Given the description of an element on the screen output the (x, y) to click on. 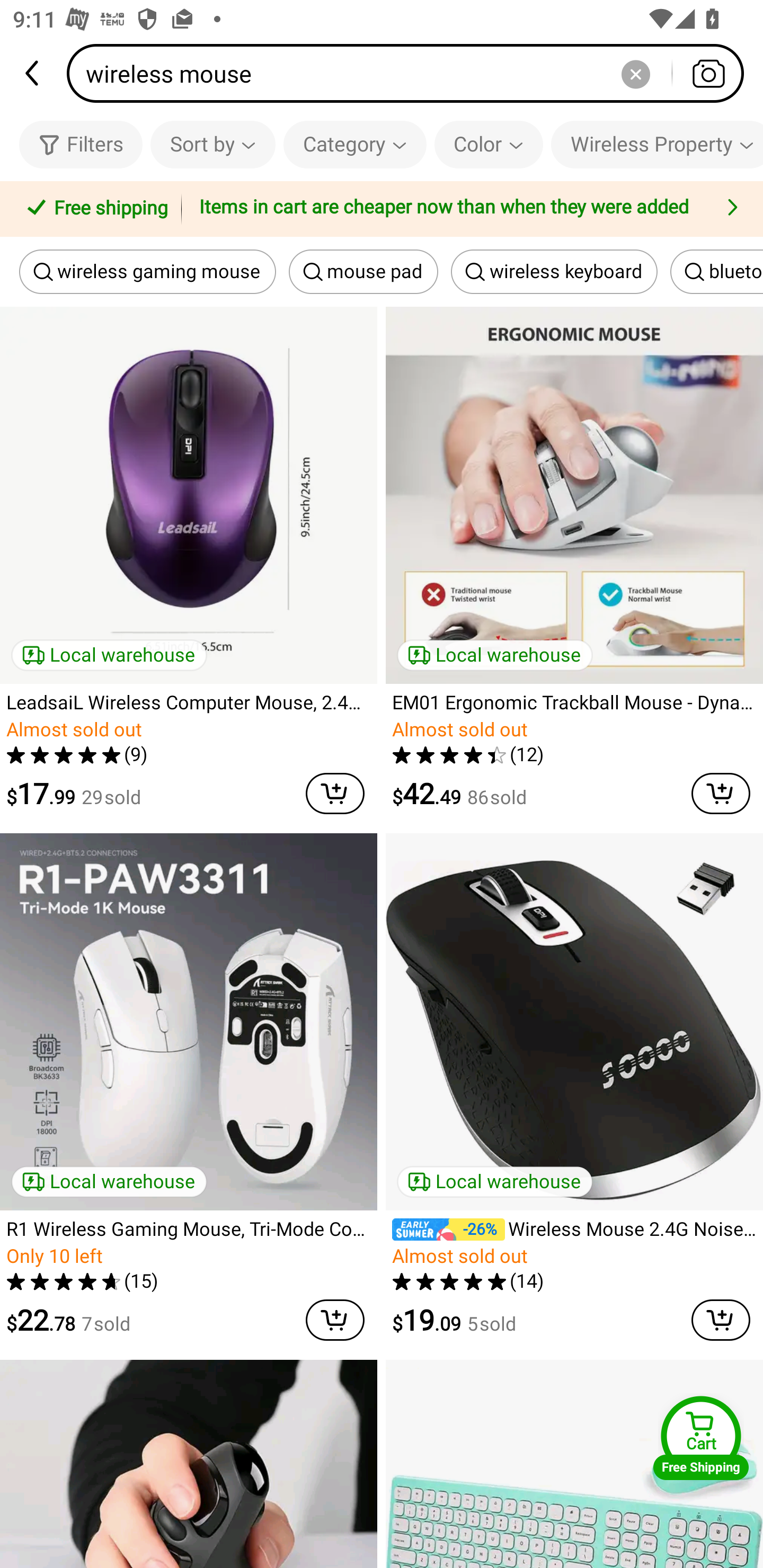
back (33, 72)
wireless mouse (411, 73)
Delete search history (635, 73)
Search by photo (708, 73)
Filters (80, 143)
Sort by (212, 143)
Category (354, 143)
Color (488, 143)
Wireless Property (656, 143)
 Free shipping (93, 208)
wireless gaming mouse (147, 271)
mouse pad (362, 271)
wireless keyboard (553, 271)
bluetooth mouse (716, 271)
cart delete (334, 793)
cart delete (720, 793)
cart delete (334, 1319)
cart delete (720, 1319)
Cart Free Shipping Cart (701, 1437)
